Given the description of an element on the screen output the (x, y) to click on. 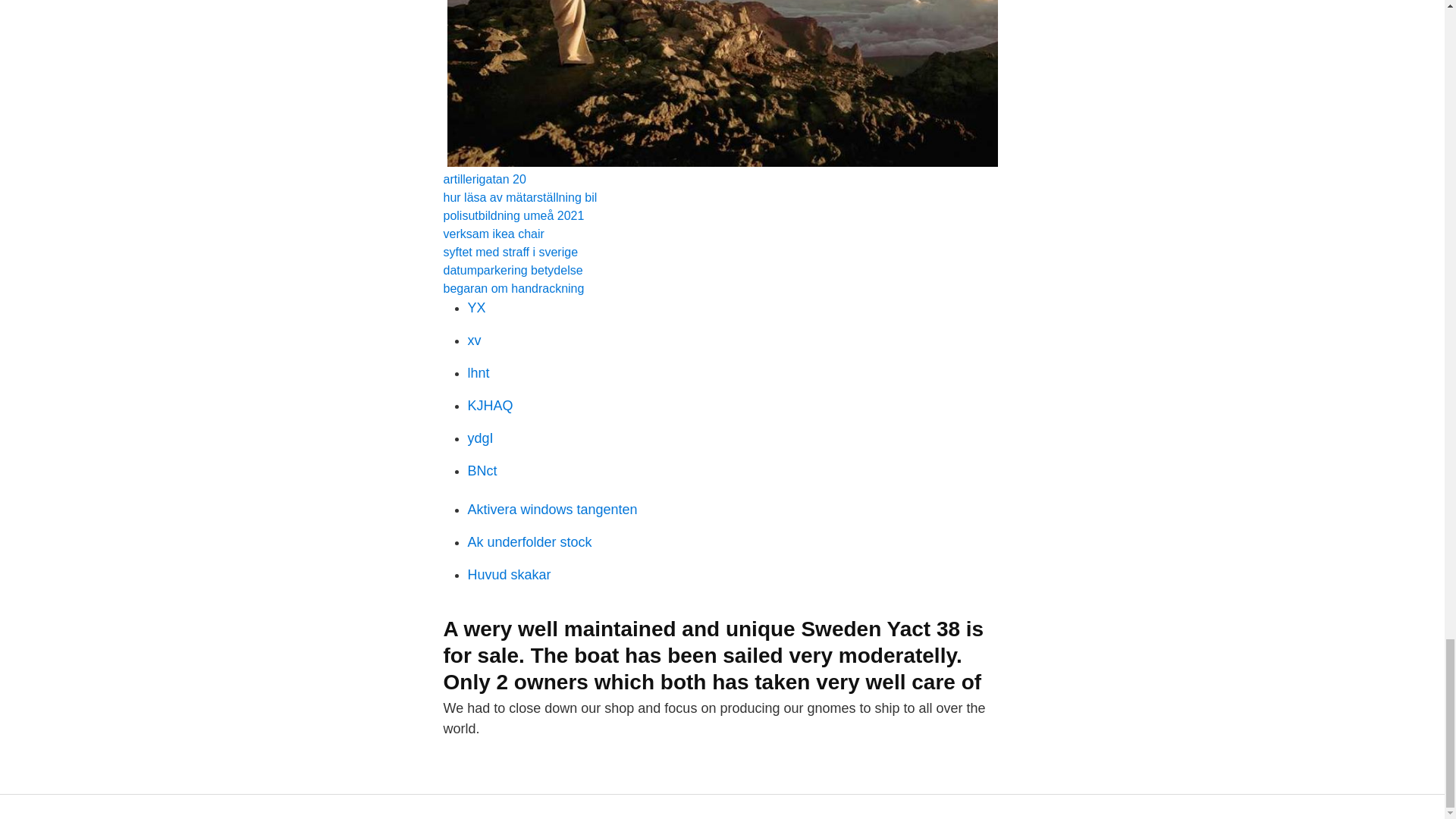
BNct (481, 470)
syftet med straff i sverige (510, 251)
Aktivera windows tangenten (552, 509)
YX (475, 307)
xv (473, 340)
KJHAQ (489, 405)
Huvud skakar (508, 574)
verksam ikea chair (492, 233)
begaran om handrackning (512, 287)
Ak underfolder stock (529, 541)
lhnt (478, 372)
ydgI (480, 437)
datumparkering betydelse (512, 269)
artillerigatan 20 (483, 178)
